Given the description of an element on the screen output the (x, y) to click on. 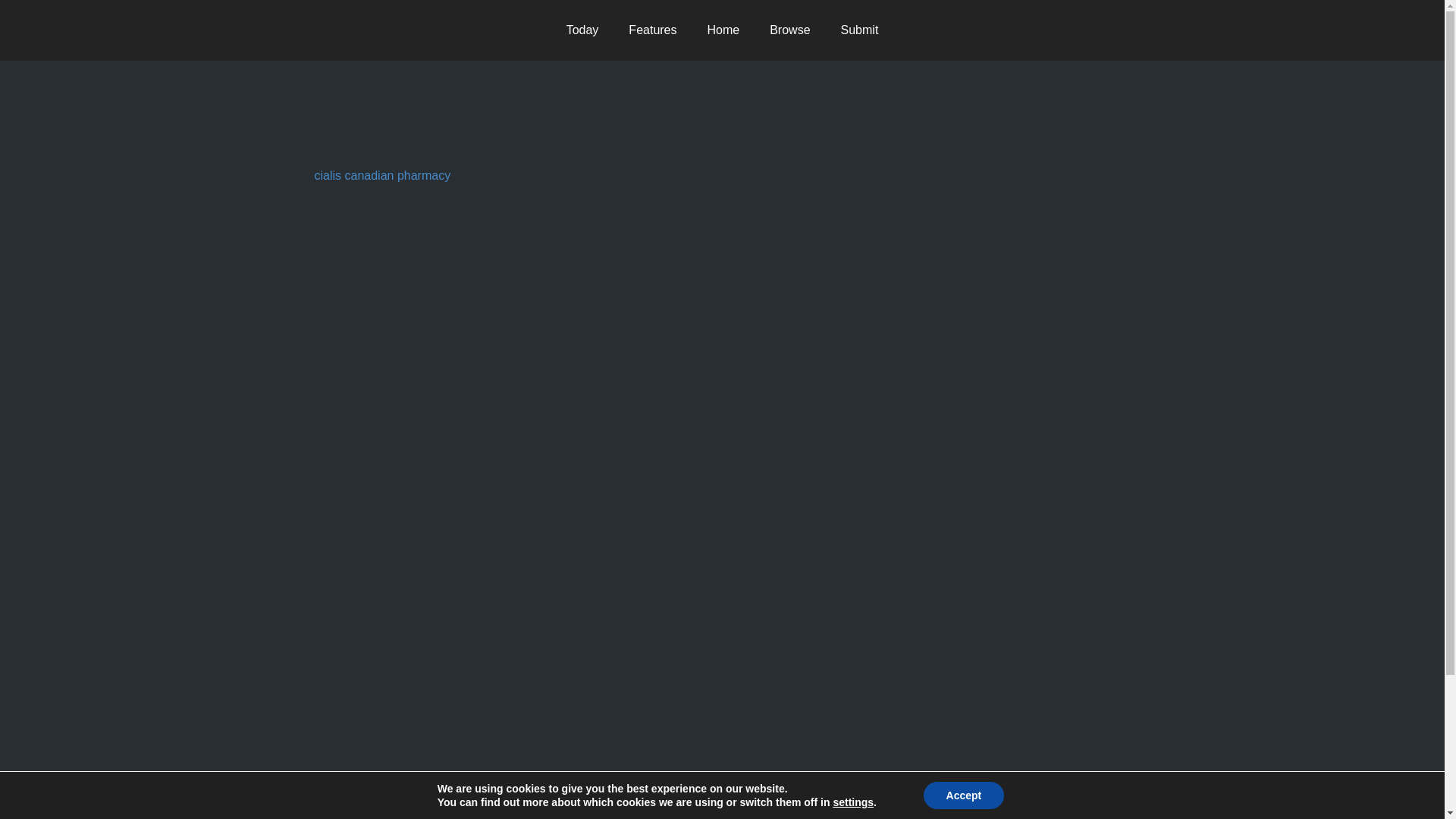
Submit a Game (859, 30)
cialis canadian pharmacy (382, 174)
Which Games released today? (582, 30)
Home (722, 30)
Submit (859, 30)
Browse (789, 30)
Uncategorized (424, 133)
Browse (789, 30)
Home (722, 30)
Features (651, 30)
